Given the description of an element on the screen output the (x, y) to click on. 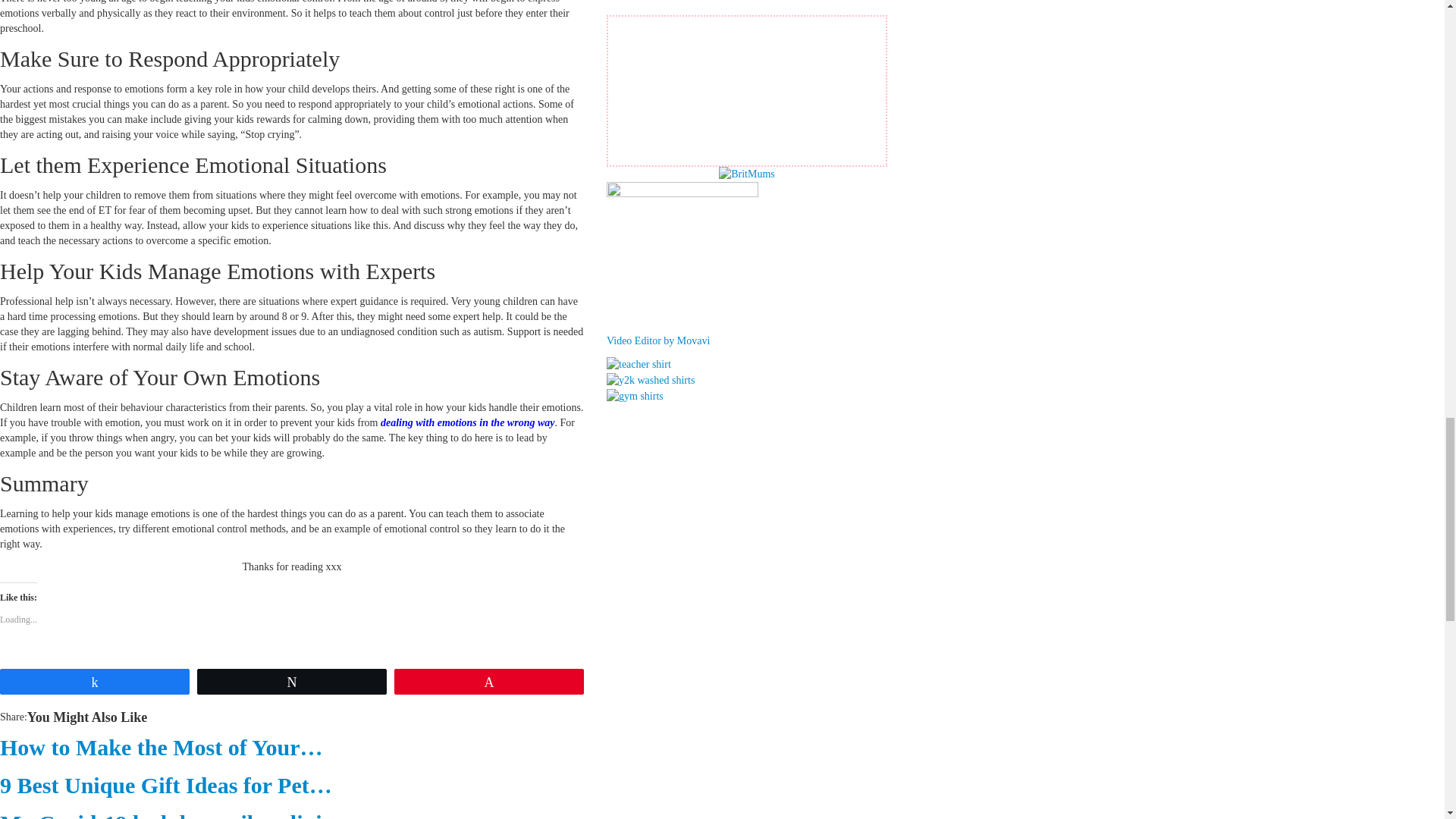
BritMums (746, 173)
dealing with emotions in the wrong way (467, 422)
teacher shirt (639, 363)
